Given the description of an element on the screen output the (x, y) to click on. 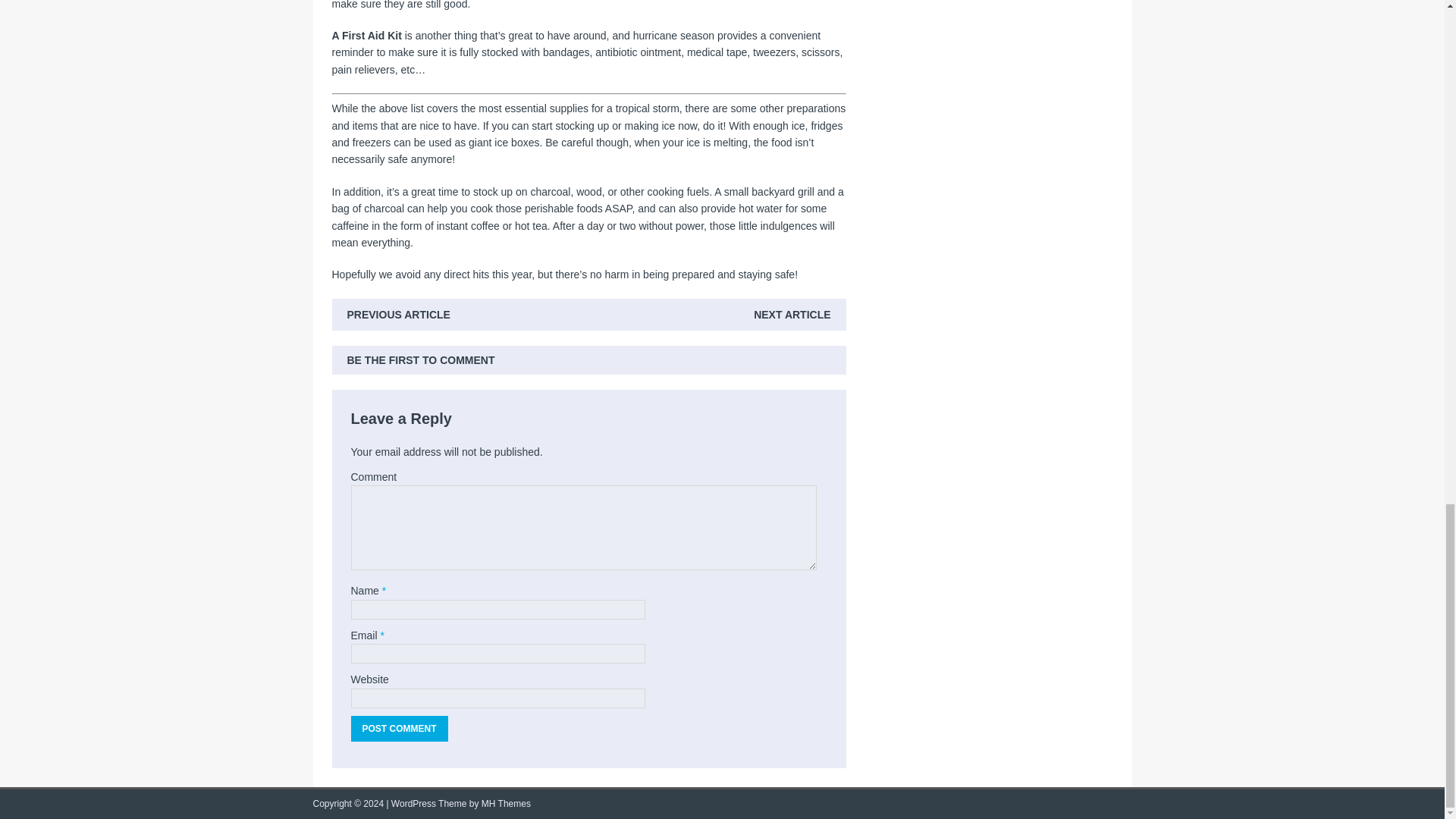
MH Themes (506, 803)
PREVIOUS ARTICLE (398, 314)
Post Comment (398, 728)
NEXT ARTICLE (791, 314)
Post Comment (398, 728)
